Given the description of an element on the screen output the (x, y) to click on. 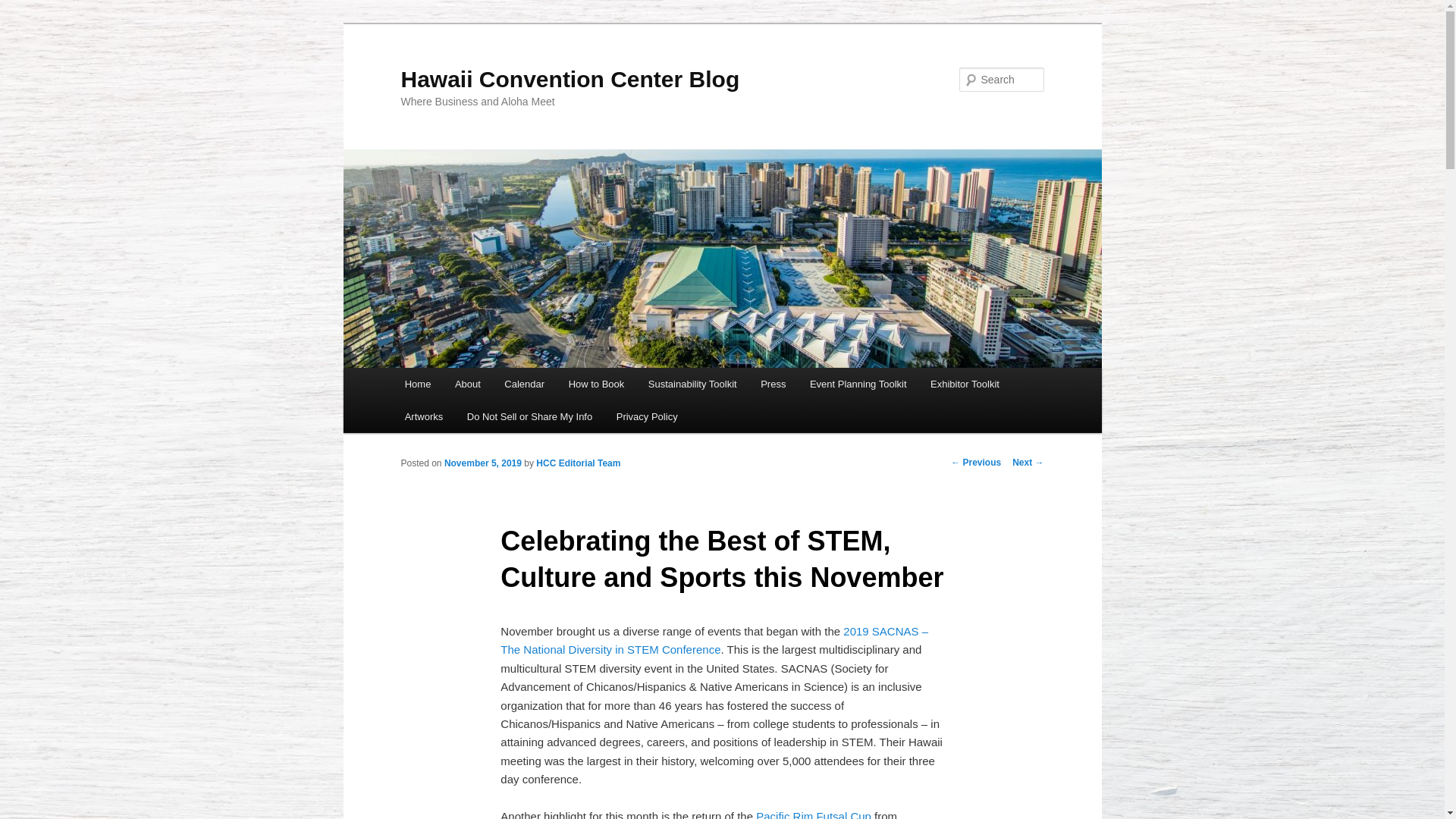
Sustainability Toolkit (692, 383)
Pacific Rim Futsal Cup (812, 814)
Calendar (524, 383)
Search (24, 8)
3:40 pm (482, 462)
Home (417, 383)
Privacy Policy (646, 416)
Event Planning Toolkit (857, 383)
November 5, 2019 (482, 462)
Press (772, 383)
